Given the description of an element on the screen output the (x, y) to click on. 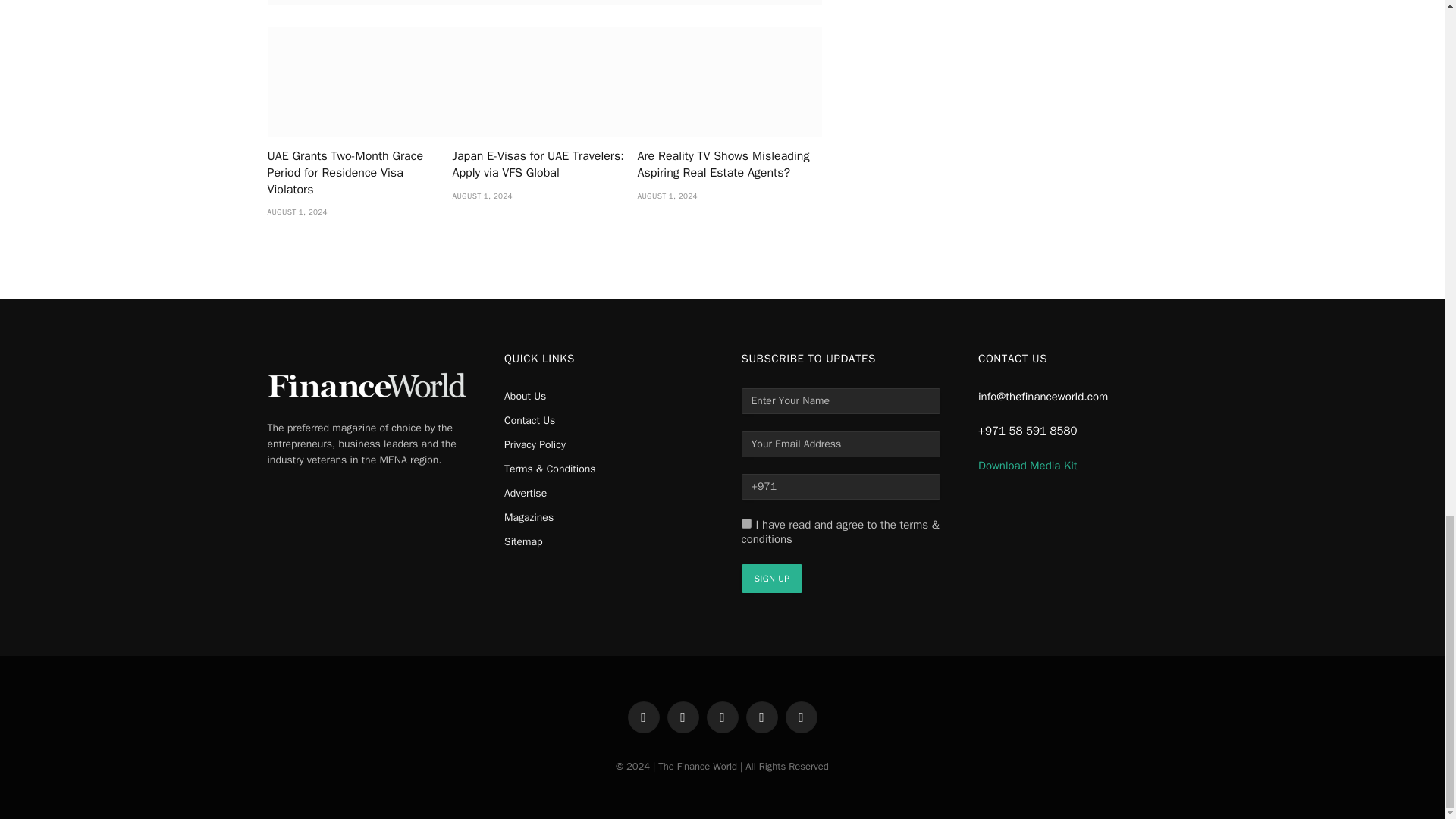
1 (746, 523)
Sign up (772, 578)
